Given the description of an element on the screen output the (x, y) to click on. 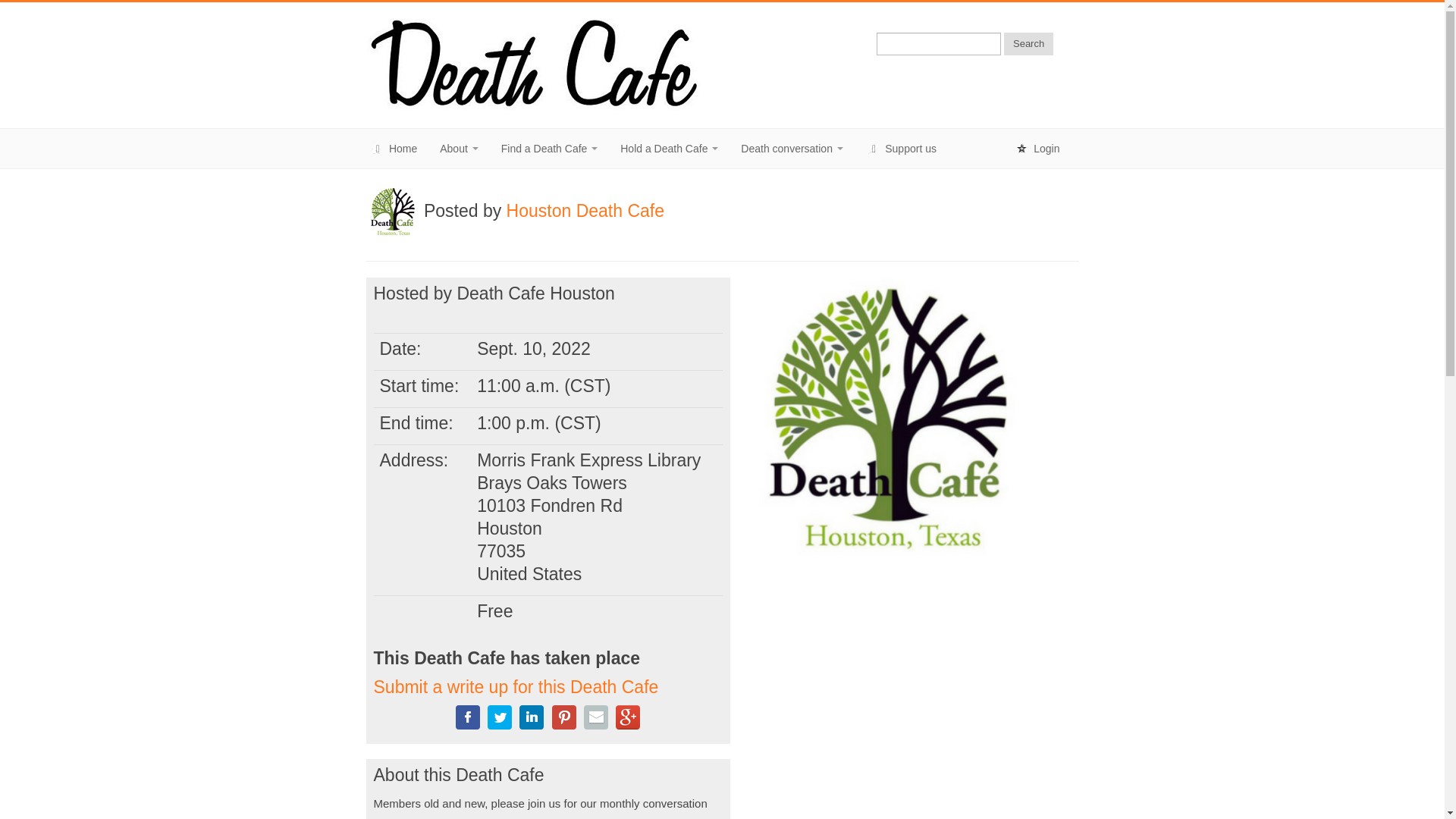
Hold a Death Cafe (668, 148)
Find a Death Cafe (549, 148)
Submit a write up for this Death Cafe (515, 686)
Houston Death Cafe (584, 210)
Login (1037, 148)
About (458, 148)
Death conversation (791, 148)
Search (1028, 43)
Support us (900, 148)
Home (393, 148)
